Given the description of an element on the screen output the (x, y) to click on. 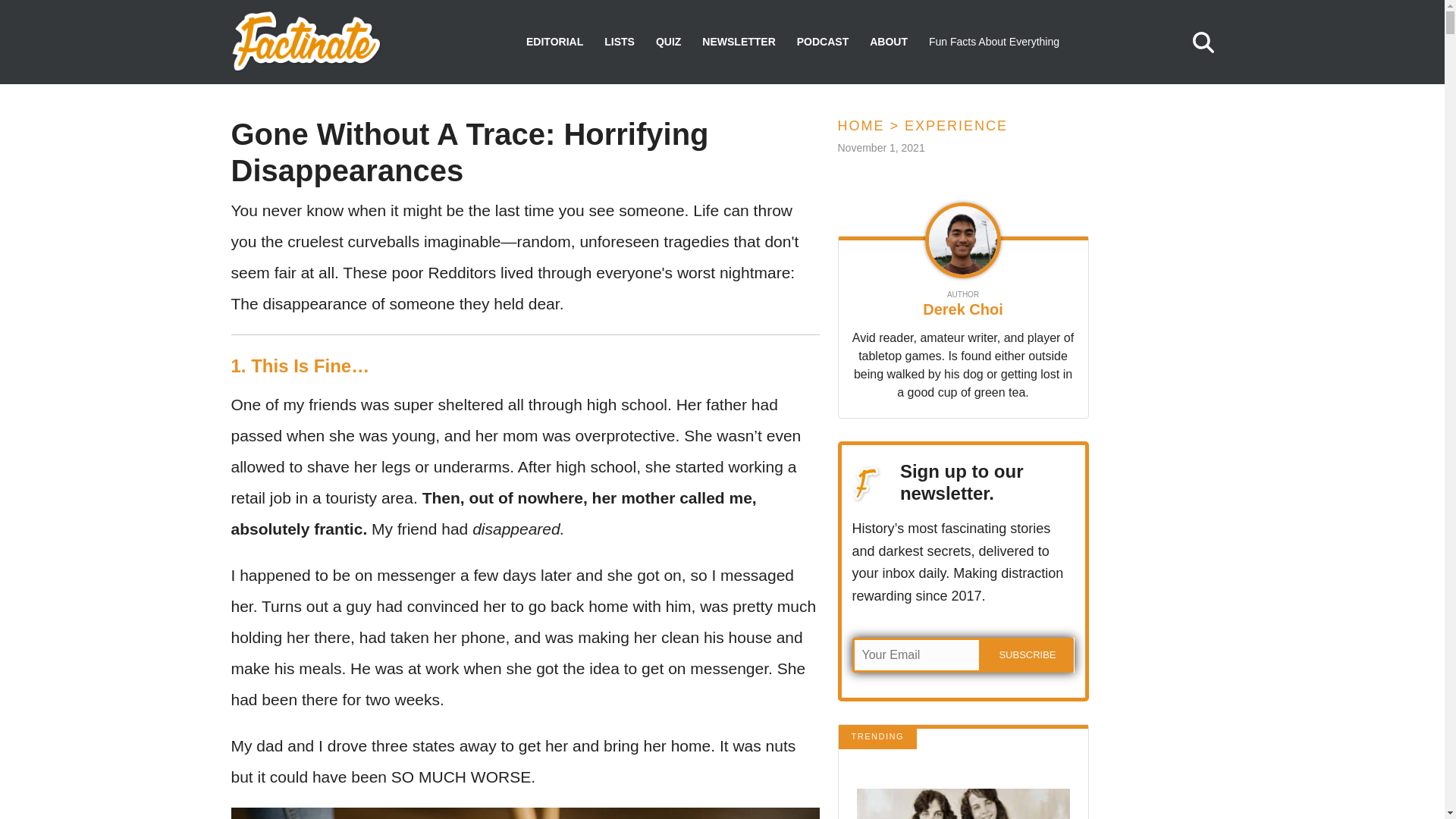
PODCAST (822, 41)
LISTS (619, 41)
EDITORIAL (554, 41)
QUIZ (668, 41)
NEWSLETTER (737, 41)
ABOUT (888, 41)
